Given the description of an element on the screen output the (x, y) to click on. 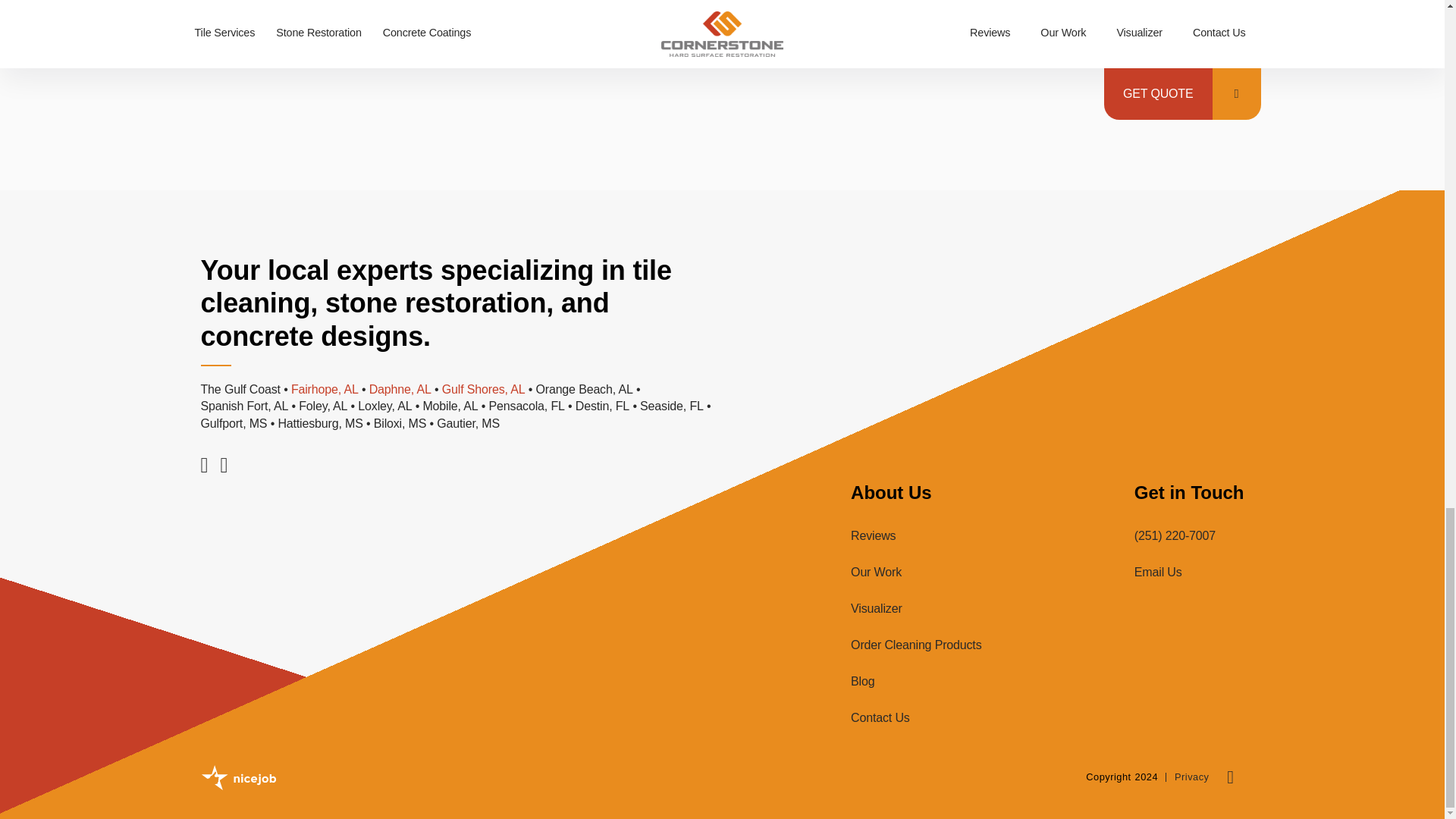
Gulf Shores, AL (483, 389)
Contact Us (879, 718)
Blog (862, 681)
Daphne, AL (399, 389)
Reviews (872, 535)
GET MY QUOTE (521, 22)
Our Work (875, 572)
Visualizer (875, 608)
navigation top (1227, 777)
Order Cleaning Products (915, 645)
